Given the description of an element on the screen output the (x, y) to click on. 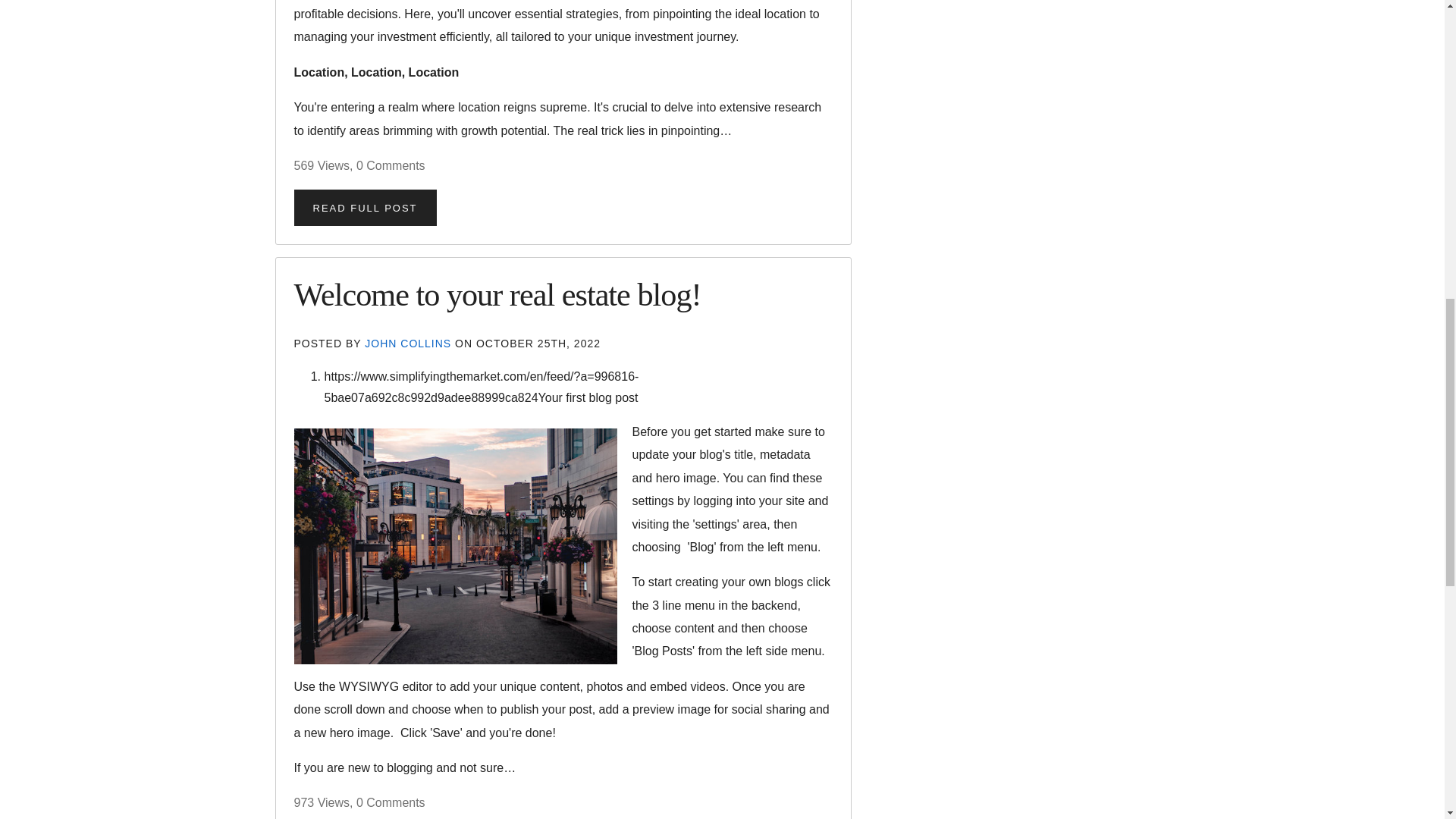
JOHN COLLINS (409, 343)
Welcome to your real estate blog! (497, 294)
READ FULL POST (365, 207)
